Given the description of an element on the screen output the (x, y) to click on. 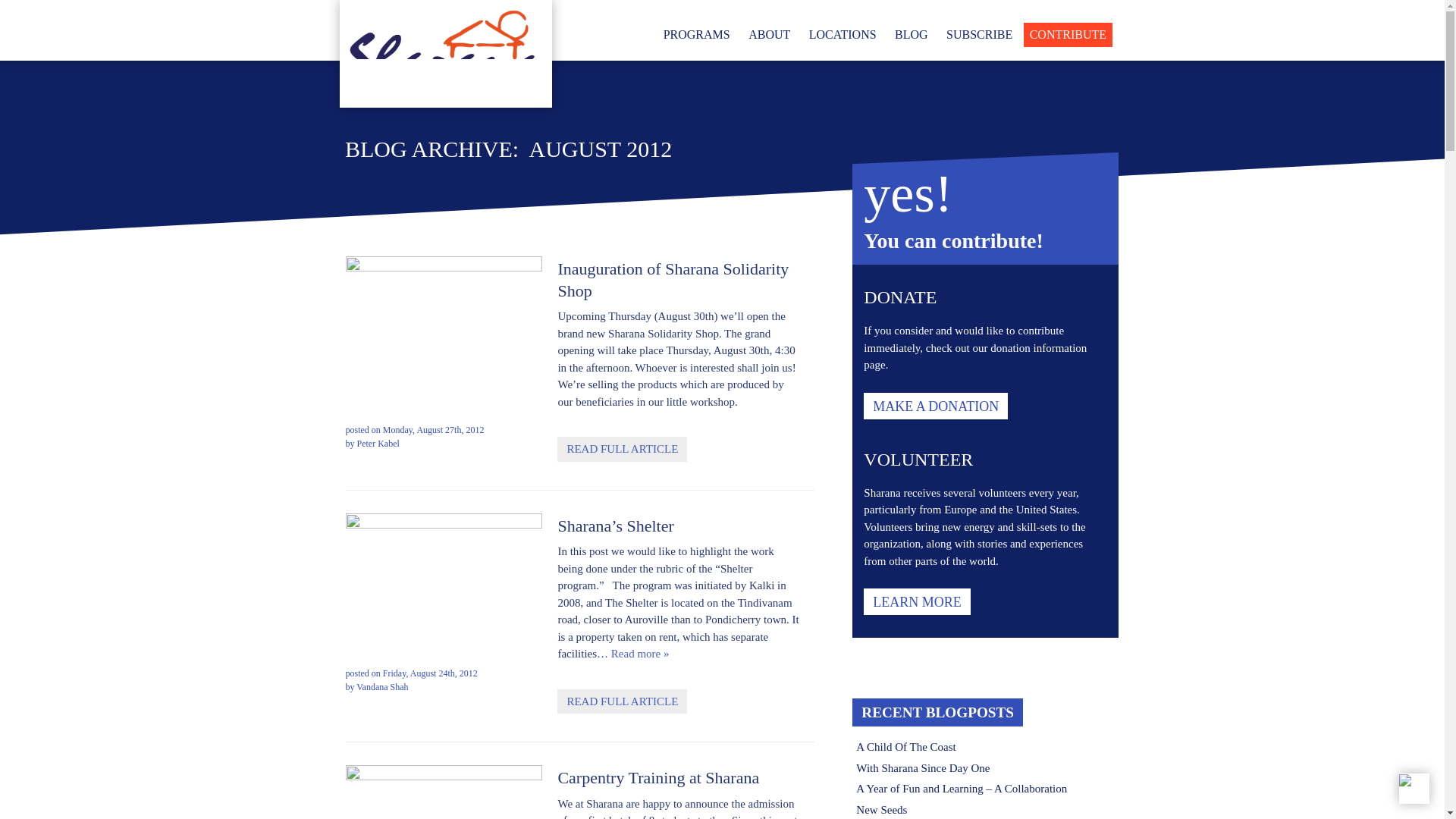
Carpentry Training at Sharana (657, 779)
READ FULL ARTICLE (622, 701)
READ FULL ARTICLE (622, 448)
ABOUT (769, 34)
Inauguration of Sharana Solidarity Shop (678, 291)
BLOG (911, 34)
PROGRAMS (697, 34)
SUBSCRIBE (978, 34)
LOCATIONS (842, 34)
CONTRIBUTE (1067, 34)
